Given the description of an element on the screen output the (x, y) to click on. 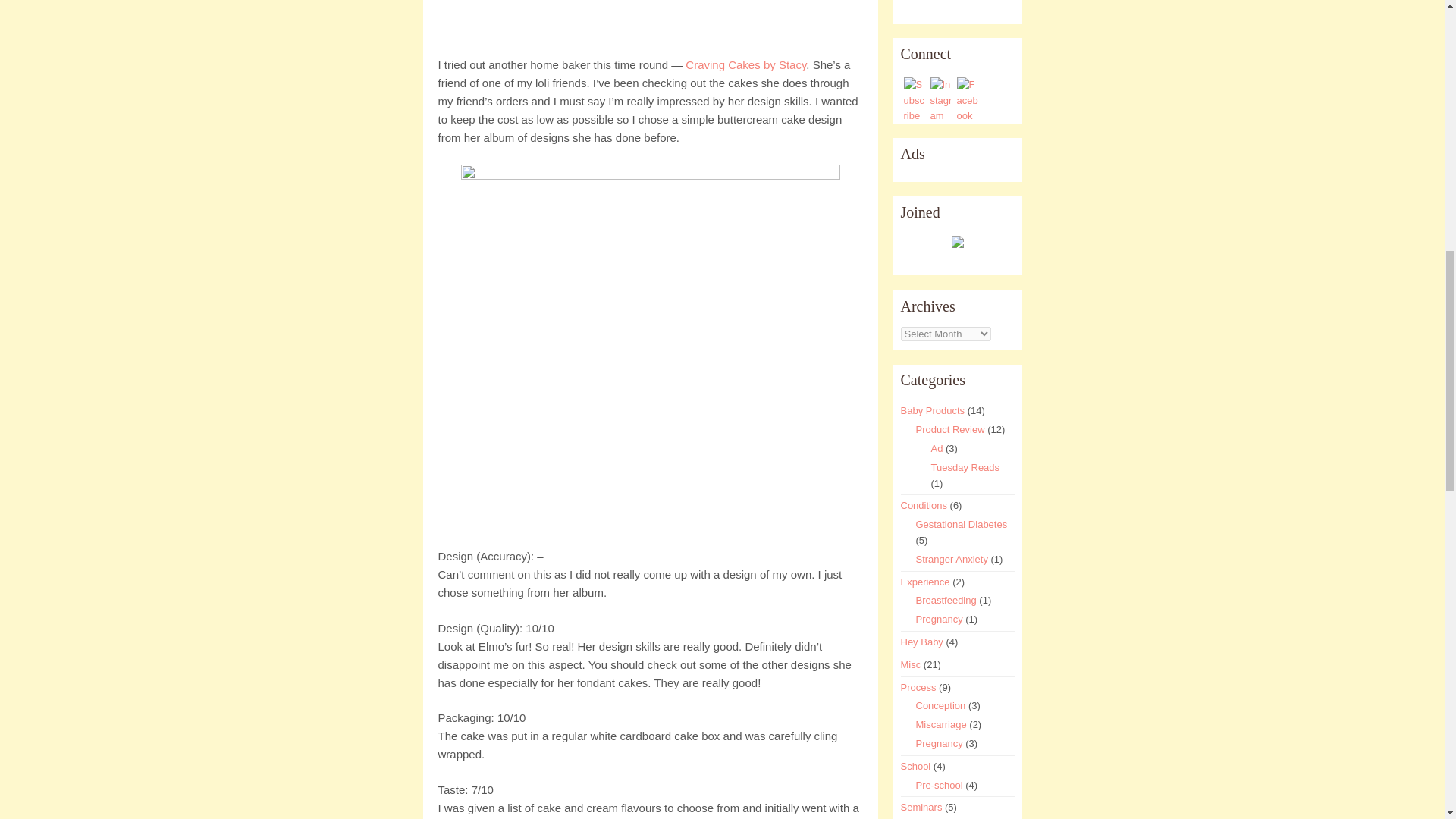
Baby Products (933, 410)
Tuesday Reads (965, 467)
Ad (937, 448)
Breastfeeding (945, 600)
Conditions (924, 505)
Pregnancy (938, 618)
Gestational Diabetes (961, 523)
Product Review (950, 429)
Craving Cakes by Stacy (745, 64)
Experience (925, 582)
Stranger Anxiety (951, 559)
